Given the description of an element on the screen output the (x, y) to click on. 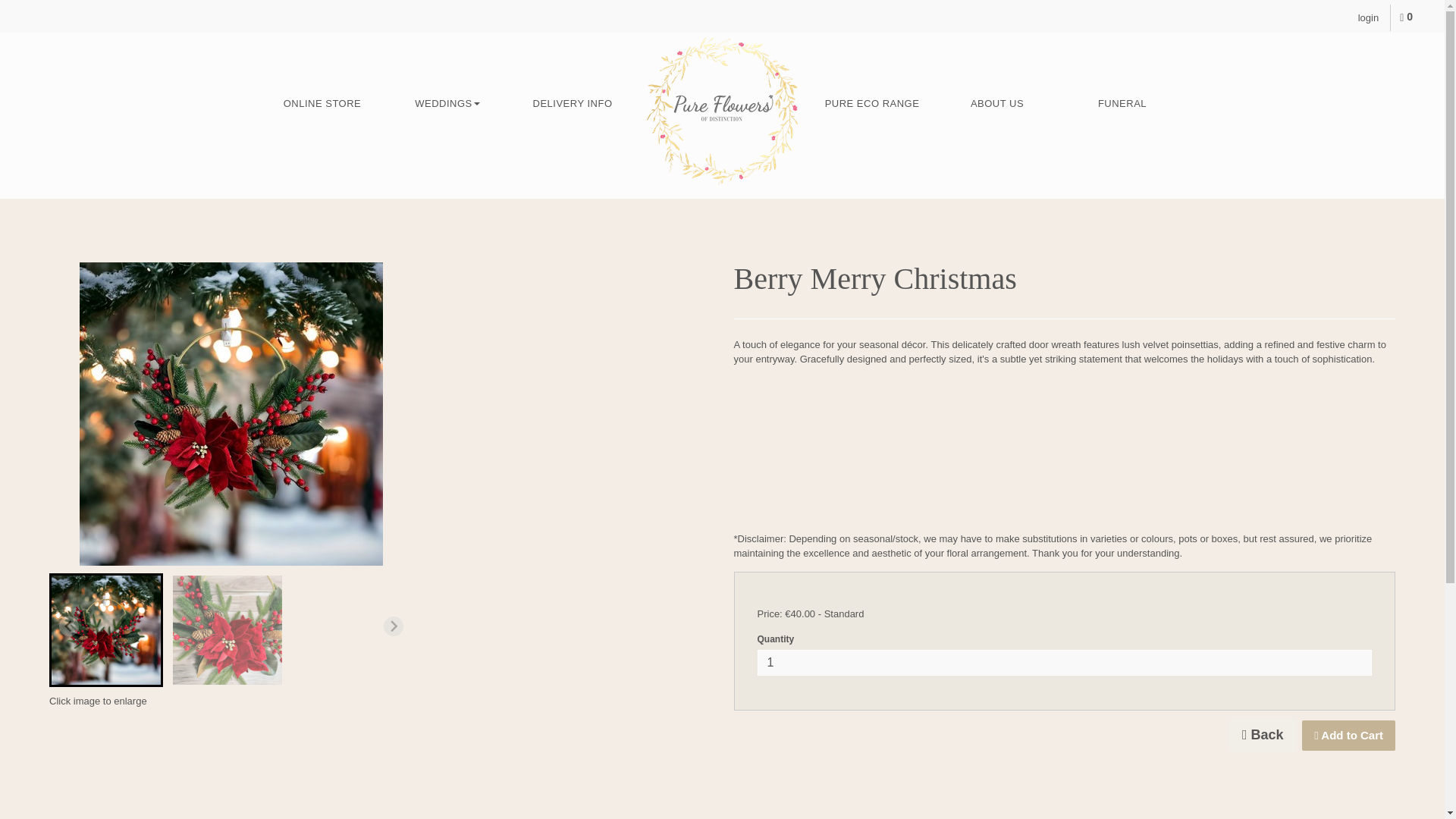
Weddings (448, 103)
0 (1406, 16)
Pure Eco Range (871, 103)
Home (721, 111)
FUNERAL (1122, 103)
Delivery Info (571, 103)
HOME (721, 111)
ABOUT US (996, 103)
DELIVERY INFO (571, 103)
PURE ECO RANGE (871, 103)
ONLINE STORE (321, 103)
1 (1064, 662)
WEDDINGS (448, 103)
About Us (996, 103)
login (1368, 17)
